Given the description of an element on the screen output the (x, y) to click on. 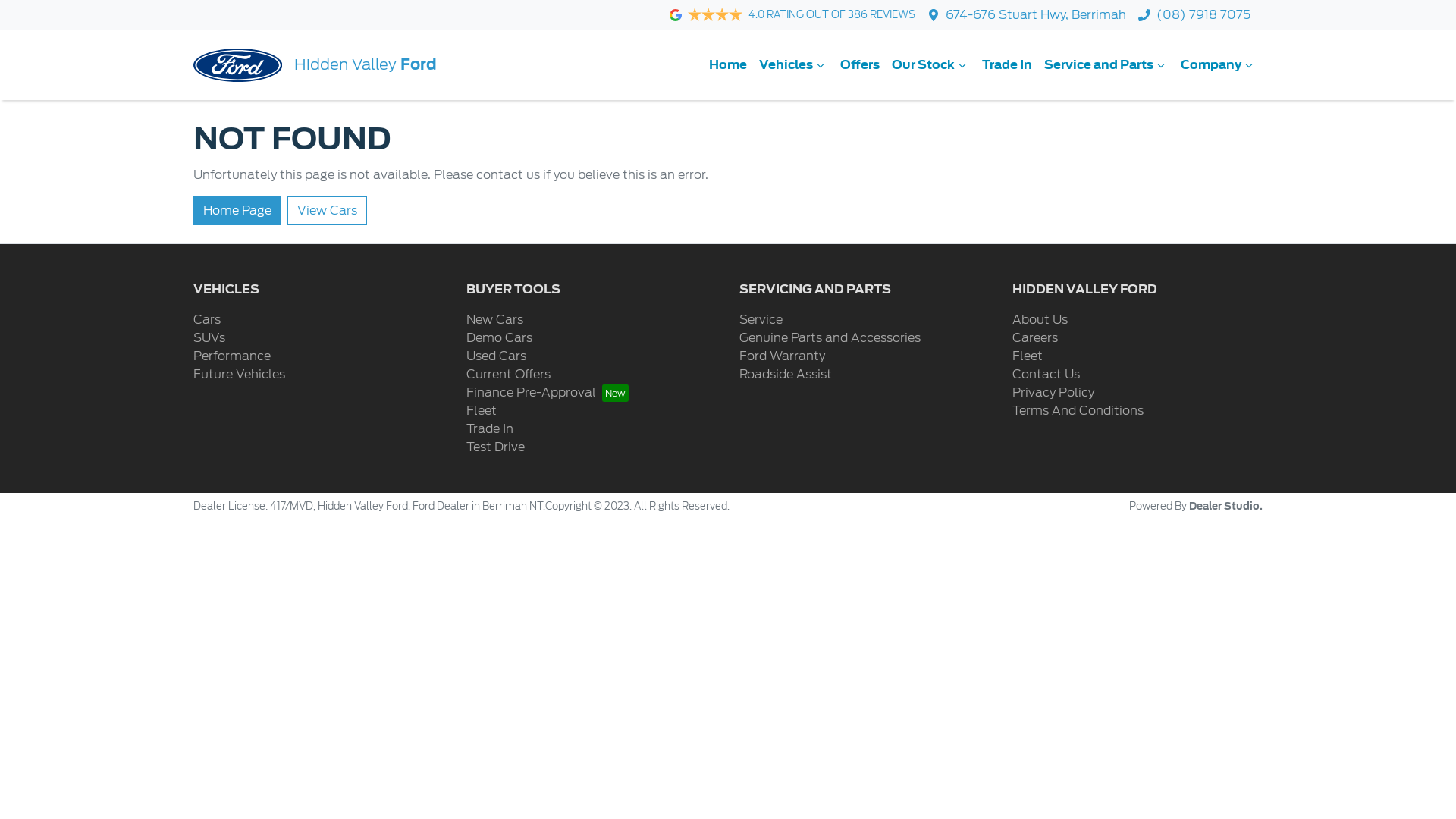
Fleet Element type: text (1027, 355)
Our Stock Element type: text (930, 65)
Roadside Assist Element type: text (785, 374)
Dealer Studio. Element type: text (1225, 505)
Company Element type: text (1218, 65)
Current Offers Element type: text (508, 374)
Home Element type: text (727, 65)
Terms And Conditions Element type: text (1077, 410)
Service and Parts Element type: text (1106, 65)
Privacy Policy Element type: text (1053, 392)
Service Element type: text (760, 319)
Hidden Valley Ford Element type: text (314, 65)
Used Cars Element type: text (496, 355)
Trade In Element type: text (489, 428)
674-676 Stuart Hwy, Berrimah Element type: text (1035, 14)
New Cars Element type: text (494, 319)
Trade In Element type: text (1006, 65)
Genuine Parts and Accessories Element type: text (829, 337)
Future Vehicles Element type: text (239, 374)
About Us Element type: text (1039, 319)
(08) 7918 7075 Element type: text (1203, 14)
Careers Element type: text (1034, 337)
Vehicles Element type: text (793, 65)
Ford Warranty Element type: text (782, 355)
Contact Us Element type: text (1045, 374)
Fleet Element type: text (481, 410)
SUVs Element type: text (209, 337)
Test Drive Element type: text (495, 446)
View Cars Element type: text (327, 210)
Home Page Element type: text (237, 210)
Finance Pre-Approval Element type: text (547, 392)
Cars Element type: text (206, 319)
Performance Element type: text (231, 355)
Offers Element type: text (859, 65)
Demo Cars Element type: text (499, 337)
